Given the description of an element on the screen output the (x, y) to click on. 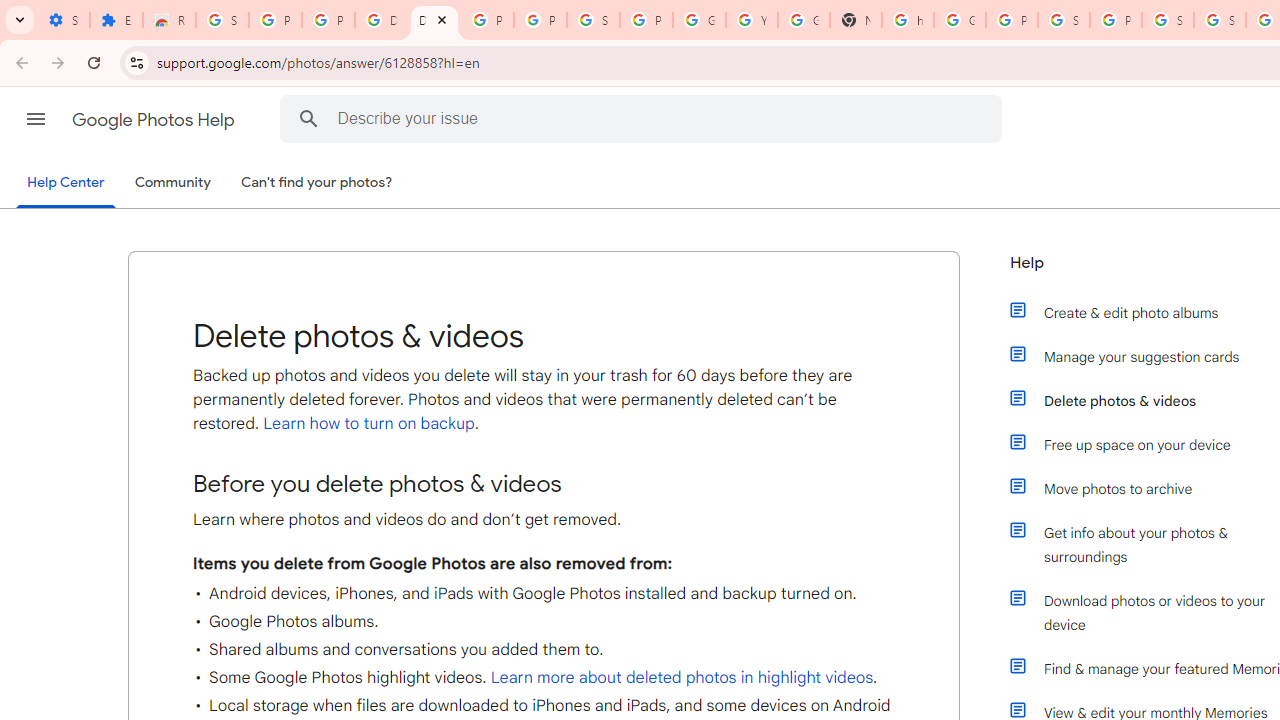
YouTube (751, 20)
Settings - On startup (63, 20)
Google Account (699, 20)
 Learn how to turn on backup (366, 423)
Sign in - Google Accounts (1219, 20)
Learn more about deleted photos in highlight videos (682, 678)
